Given the description of an element on the screen output the (x, y) to click on. 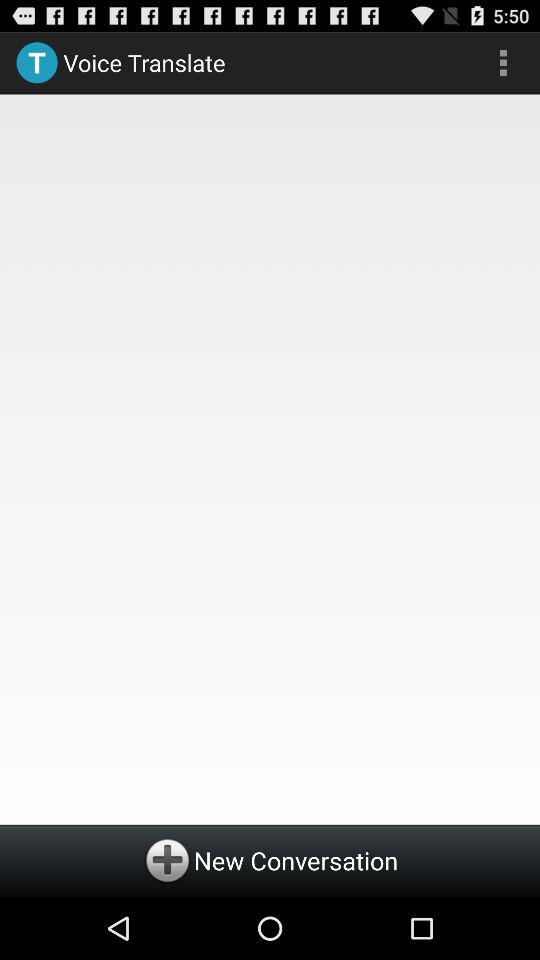
begin a new conversation (270, 860)
